Given the description of an element on the screen output the (x, y) to click on. 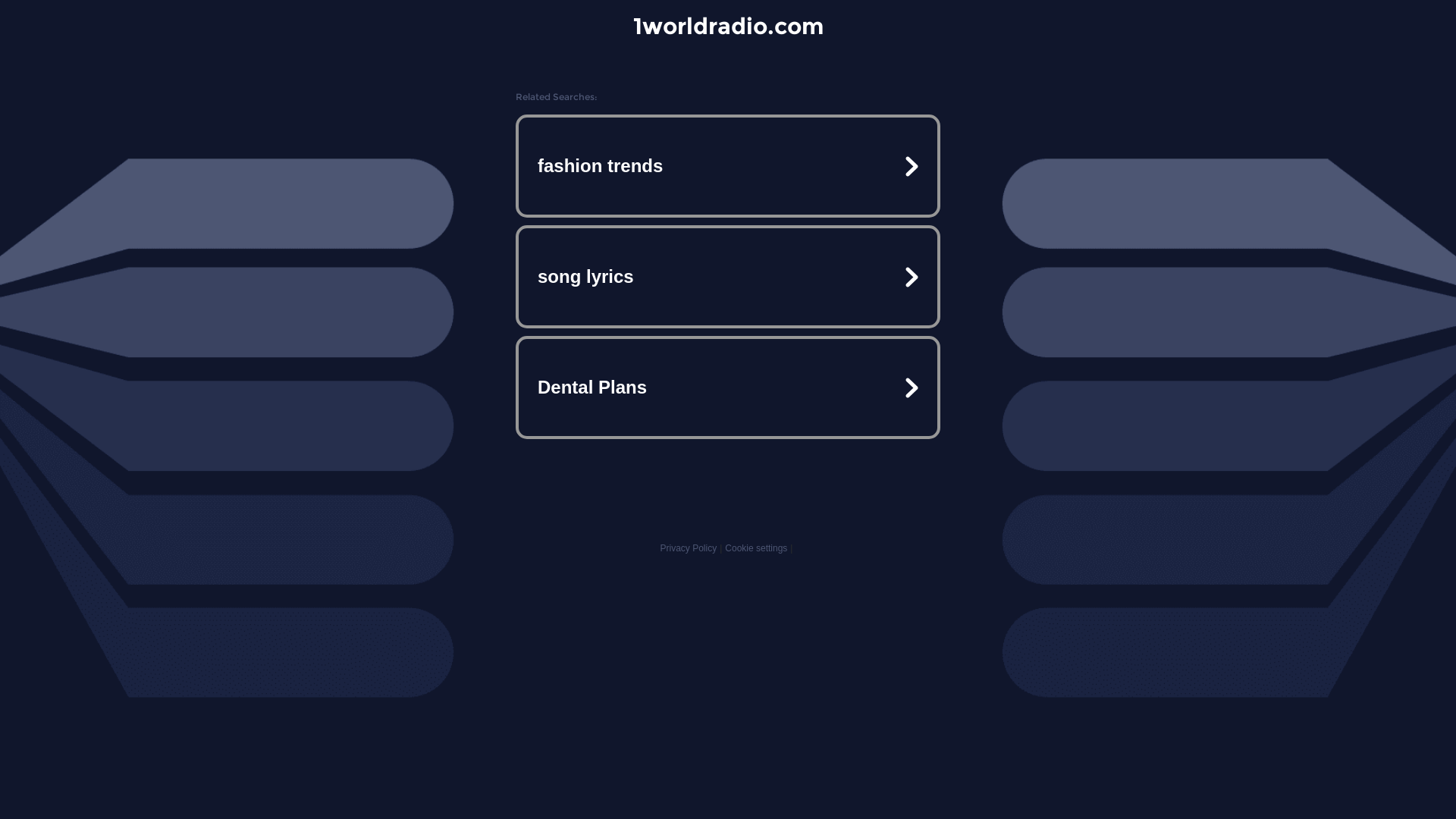
song lyrics Element type: text (727, 276)
fashion trends Element type: text (727, 165)
Privacy Policy Element type: text (687, 547)
Cookie settings Element type: text (755, 547)
1worldradio.com Element type: text (727, 26)
Dental Plans Element type: text (727, 387)
